Given the description of an element on the screen output the (x, y) to click on. 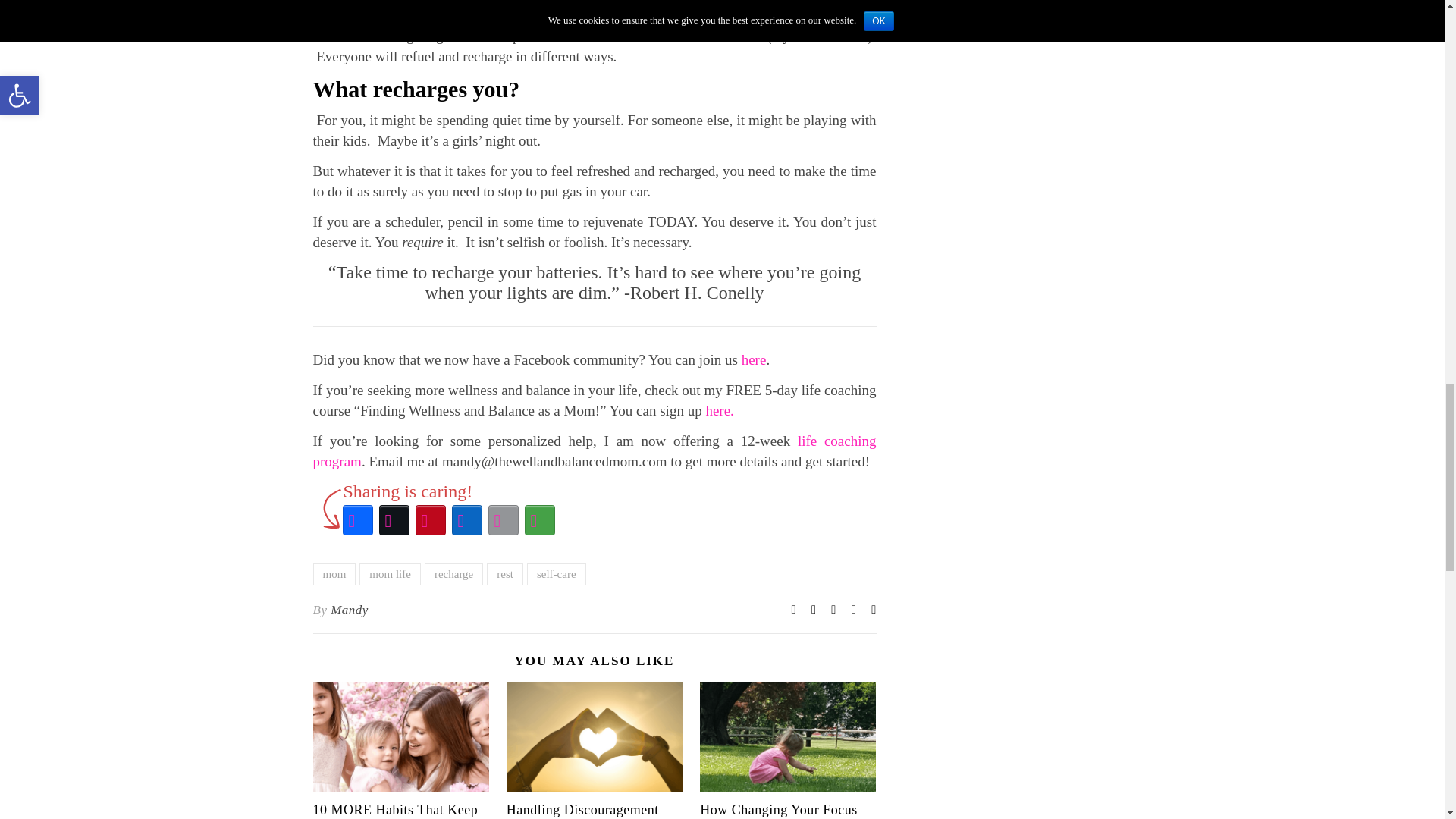
More Options (539, 520)
Facebook (357, 520)
Email This (502, 520)
LinkedIn (466, 520)
Pinterest (430, 520)
Posts by Mandy (349, 609)
